Given the description of an element on the screen output the (x, y) to click on. 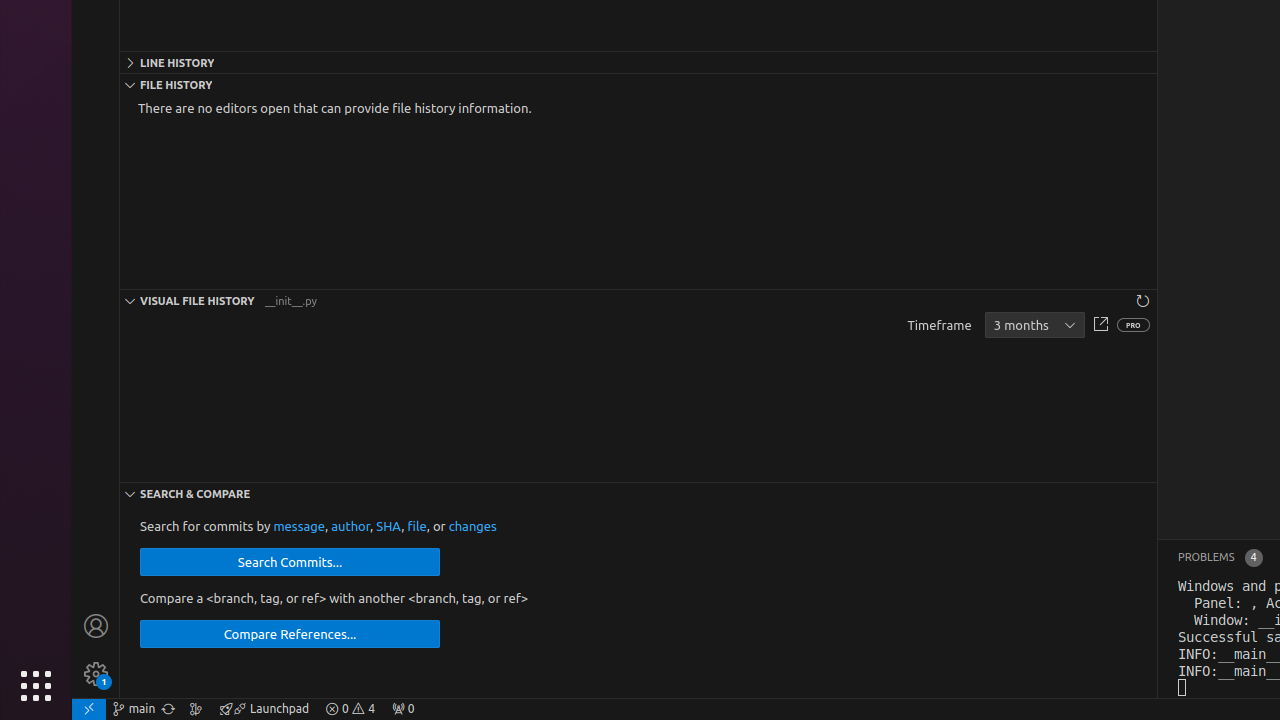
OSWorld (Git) - main, Checkout Branch/Tag... Element type: push-button (134, 709)
Accounts Element type: push-button (96, 626)
Show the GitLens Commit Graph Element type: push-button (196, 709)
Warnings: 4 Element type: push-button (350, 709)
SHA Element type: push-button (389, 526)
